Given the description of an element on the screen output the (x, y) to click on. 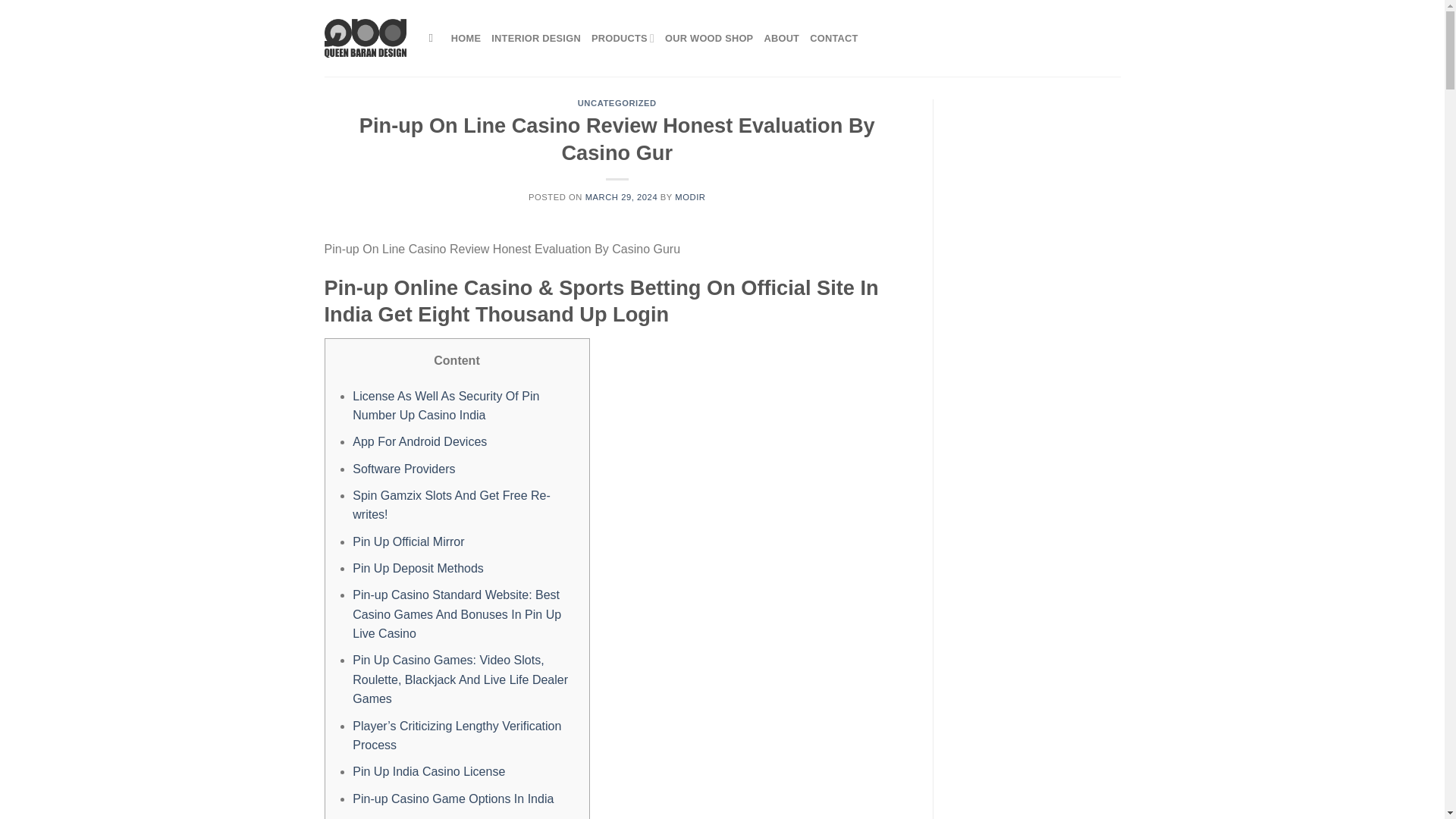
CONTACT (833, 37)
App For Android Devices (419, 440)
Pin Up Official Mirror (408, 541)
ABOUT (780, 37)
MODIR (689, 196)
Pin-up Casino Game Options In India (452, 798)
Queen Baran Design (365, 37)
Spin Gamzix Slots And Get Free Re-writes! (451, 504)
Pin Up Deposit Methods (417, 567)
Software Providers (403, 468)
HOME (465, 37)
License As Well As Security Of Pin Number Up Casino India (445, 405)
Pin Up India Casino License (428, 771)
